Given the description of an element on the screen output the (x, y) to click on. 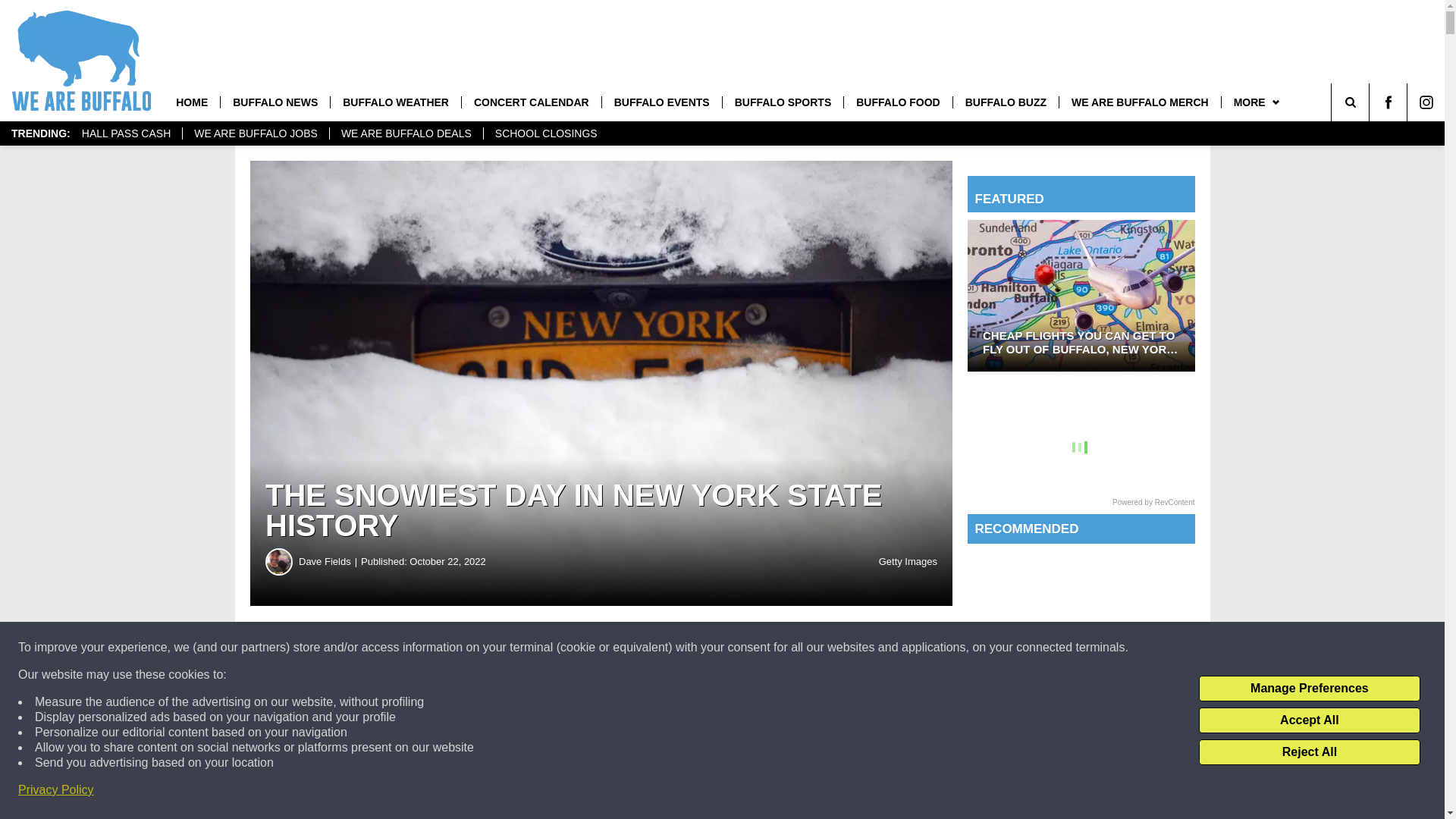
Share on Facebook (460, 647)
WE ARE BUFFALO JOBS (255, 133)
CONCERT CALENDAR (531, 102)
WE ARE BUFFALO DEALS (406, 133)
WE ARE BUFFALO MERCH (1139, 102)
SEARCH (1371, 102)
Manage Preferences (1309, 688)
BUFFALO FOOD (897, 102)
SCHOOL CLOSINGS (545, 133)
BUFFALO NEWS (274, 102)
HOME (191, 102)
HALL PASS CASH (126, 133)
Privacy Policy (55, 789)
Accept All (1309, 720)
Share on Twitter (741, 647)
